Given the description of an element on the screen output the (x, y) to click on. 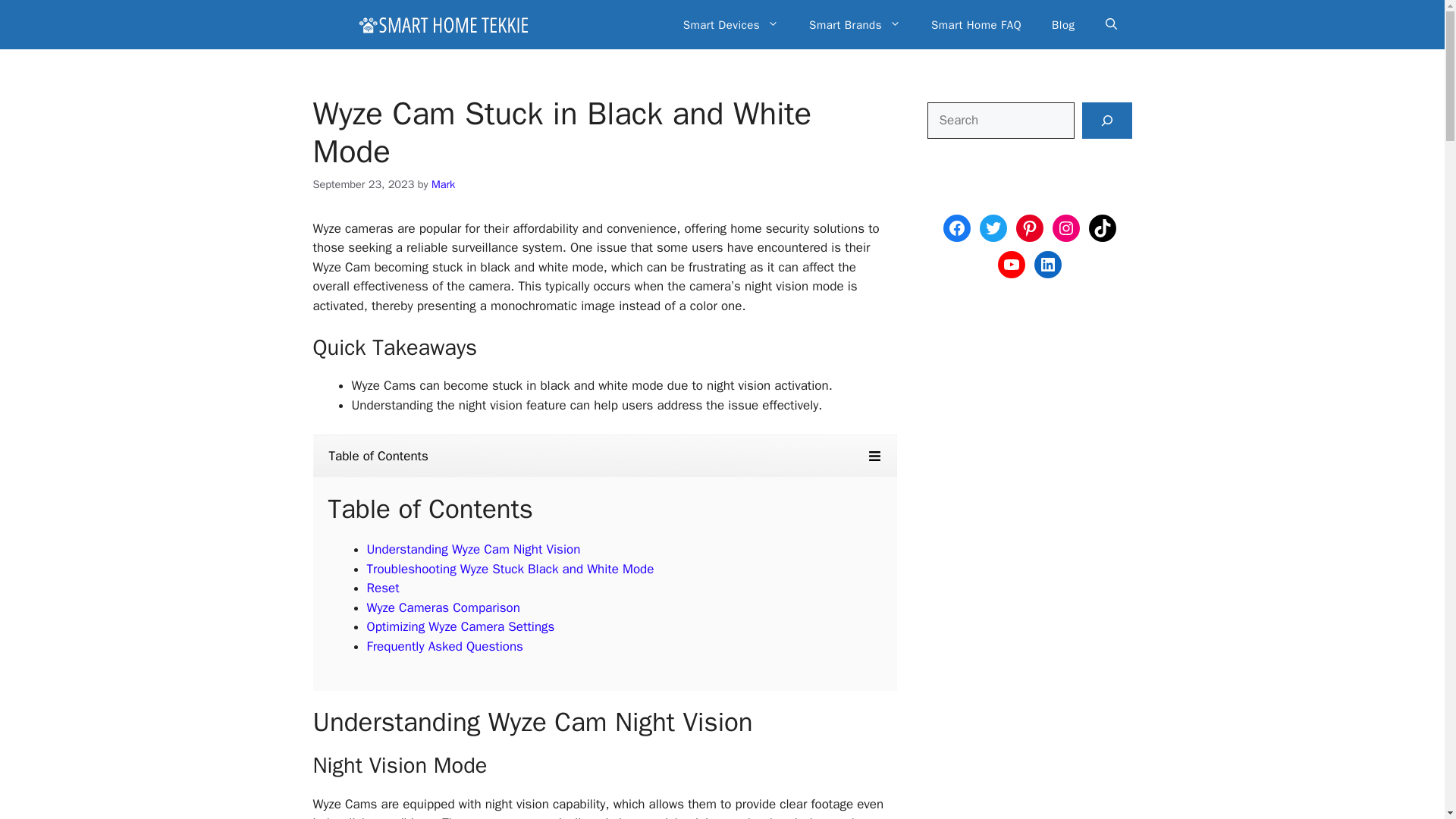
Smart Home Tekkie (443, 24)
Table of Contents (604, 456)
Blog (1062, 23)
Smart Brands (854, 23)
Mark (442, 183)
Smart Home FAQ (975, 23)
Troubleshooting Wyze Stuck Black and White Mode (509, 569)
View all posts by Mark (442, 183)
Smart Devices (730, 23)
Reset (382, 587)
